Given the description of an element on the screen output the (x, y) to click on. 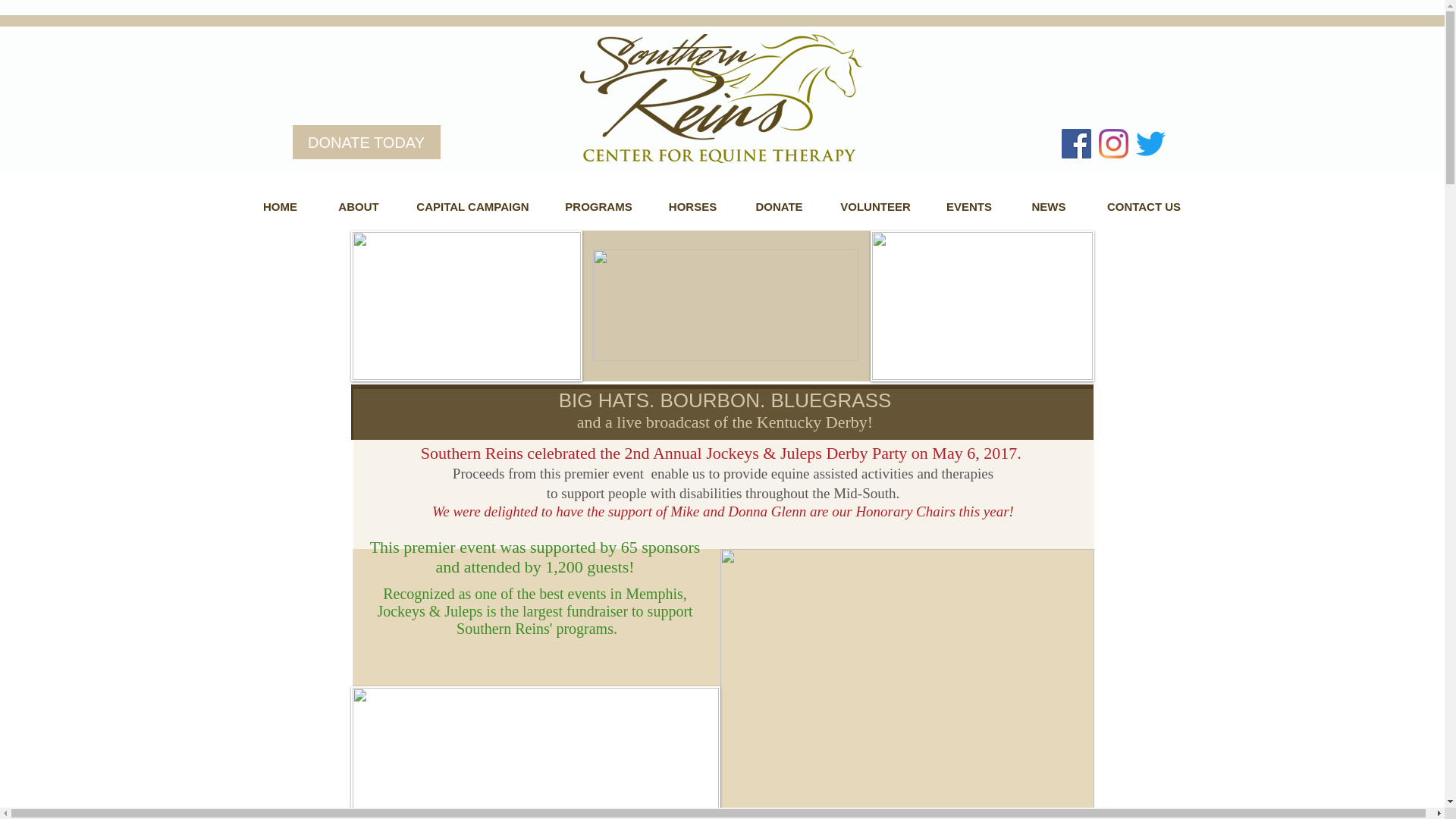
DONATE (779, 206)
PROGRAMS (598, 206)
HOME (279, 206)
HORSES (692, 206)
VOLUNTEER (876, 206)
CAPITAL CAMPAIGN (472, 206)
